Given the description of an element on the screen output the (x, y) to click on. 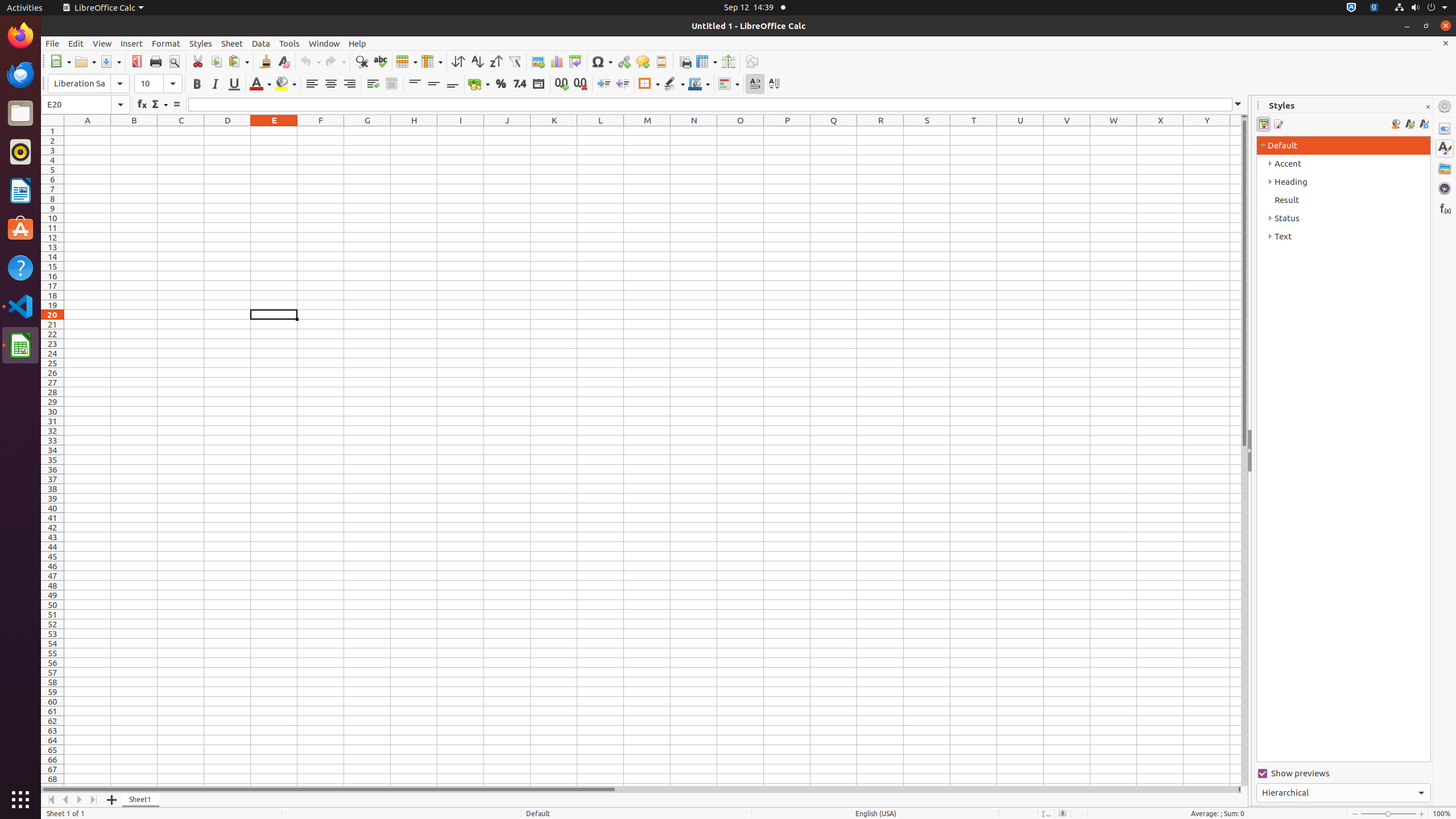
H1 Element type: table-cell (413, 130)
Function Wizard Element type: push-button (141, 104)
Format Element type: menu (165, 43)
Clone Element type: push-button (264, 61)
Borders (Shift to overwrite) Element type: push-button (648, 83)
